Given the description of an element on the screen output the (x, y) to click on. 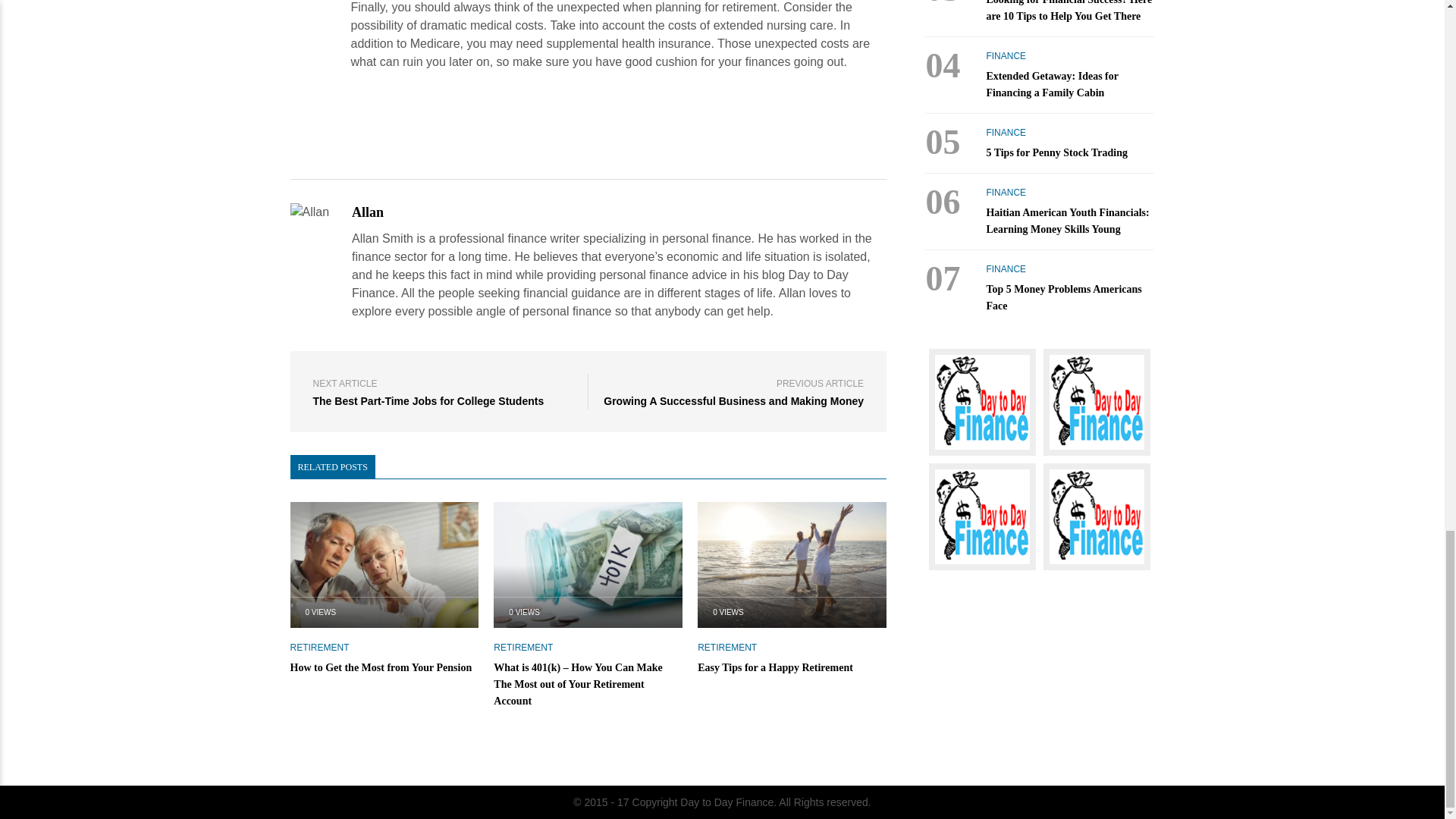
Banner (981, 401)
Banner (1096, 516)
Banner (1096, 401)
Banner (981, 516)
